Given the description of an element on the screen output the (x, y) to click on. 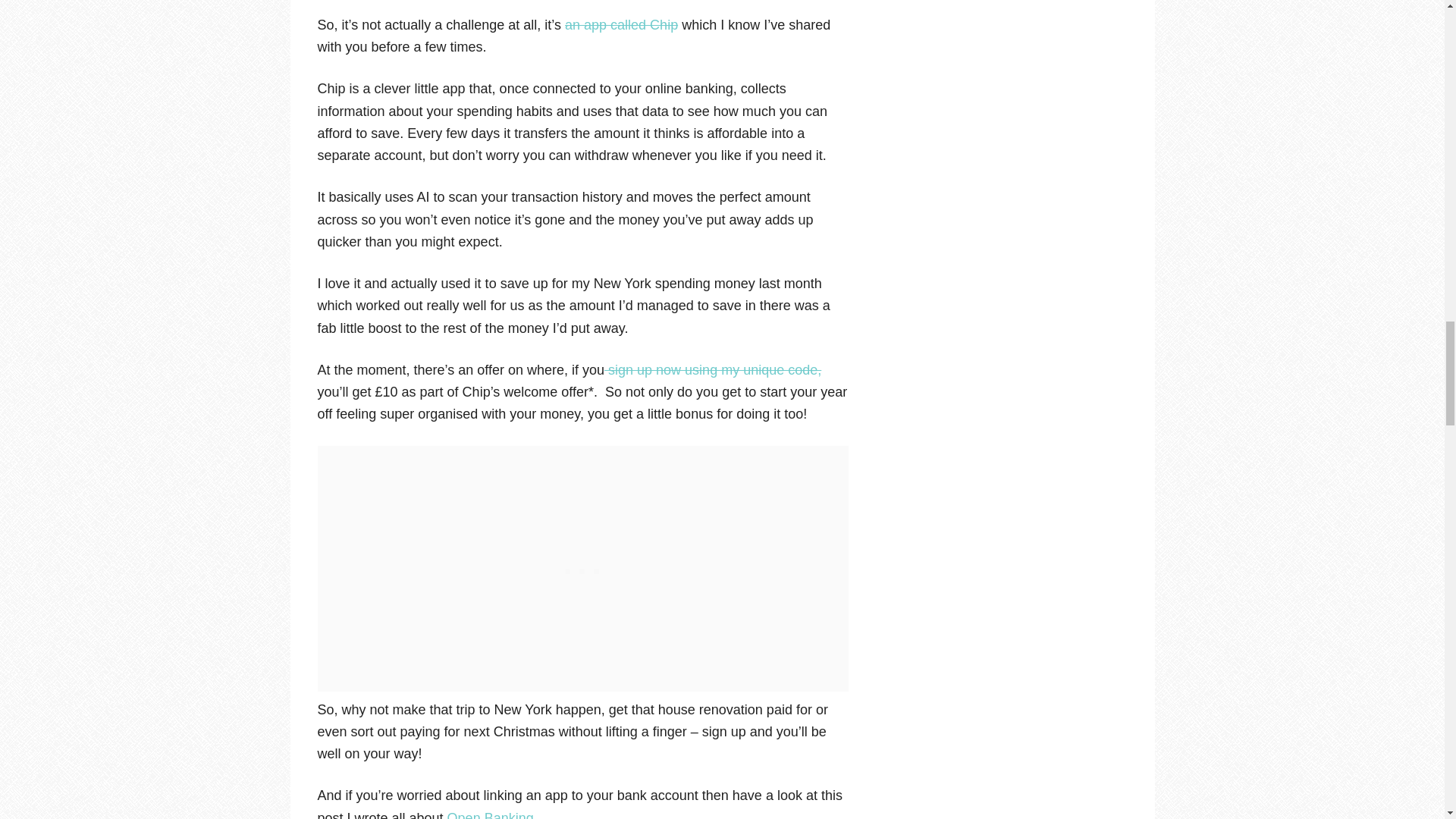
Open Banking (490, 814)
sign up now using my unique code, (712, 369)
an app called Chip (621, 24)
